Given the description of an element on the screen output the (x, y) to click on. 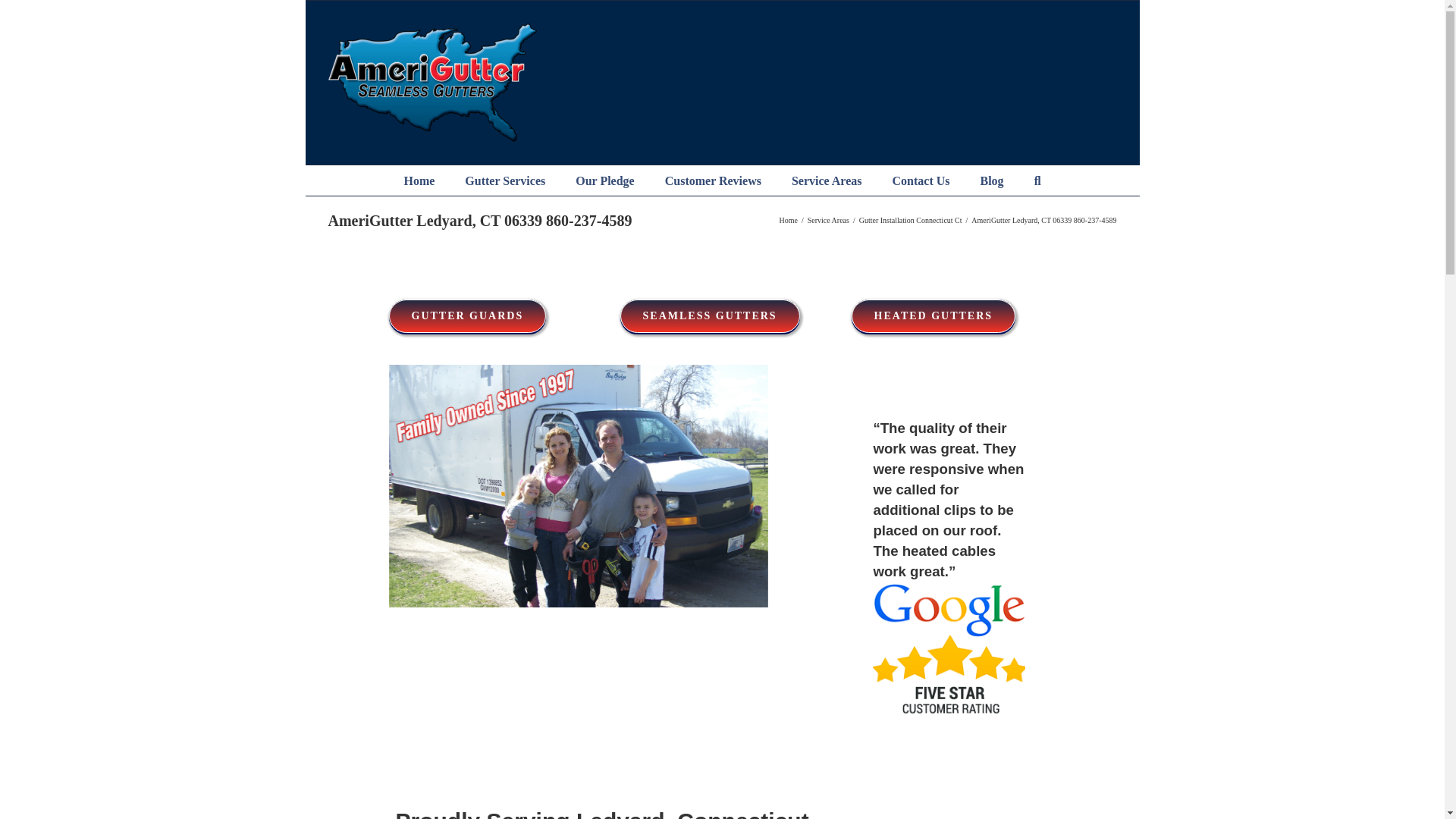
Our Pledge (604, 180)
Contact Us (920, 180)
Service Areas (826, 180)
Gutter Services (504, 180)
Home (418, 180)
Customer Reviews (713, 180)
